Given the description of an element on the screen output the (x, y) to click on. 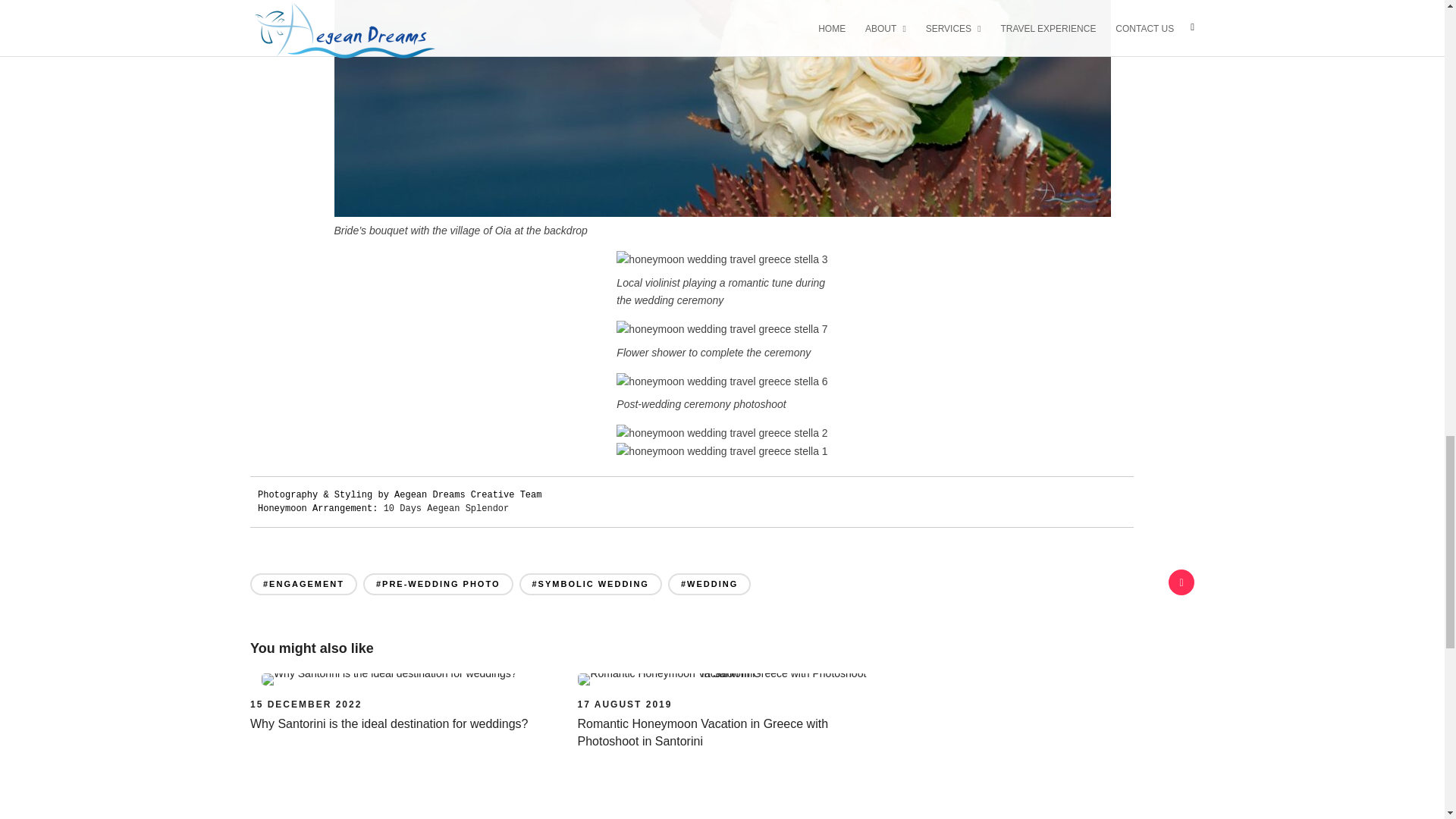
10 Days Aegean Splendor Greece Travel  (446, 508)
Why Santorini is the ideal destination for weddings? (305, 704)
Why Santorini is the ideal destination for weddings? (388, 723)
